Given the description of an element on the screen output the (x, y) to click on. 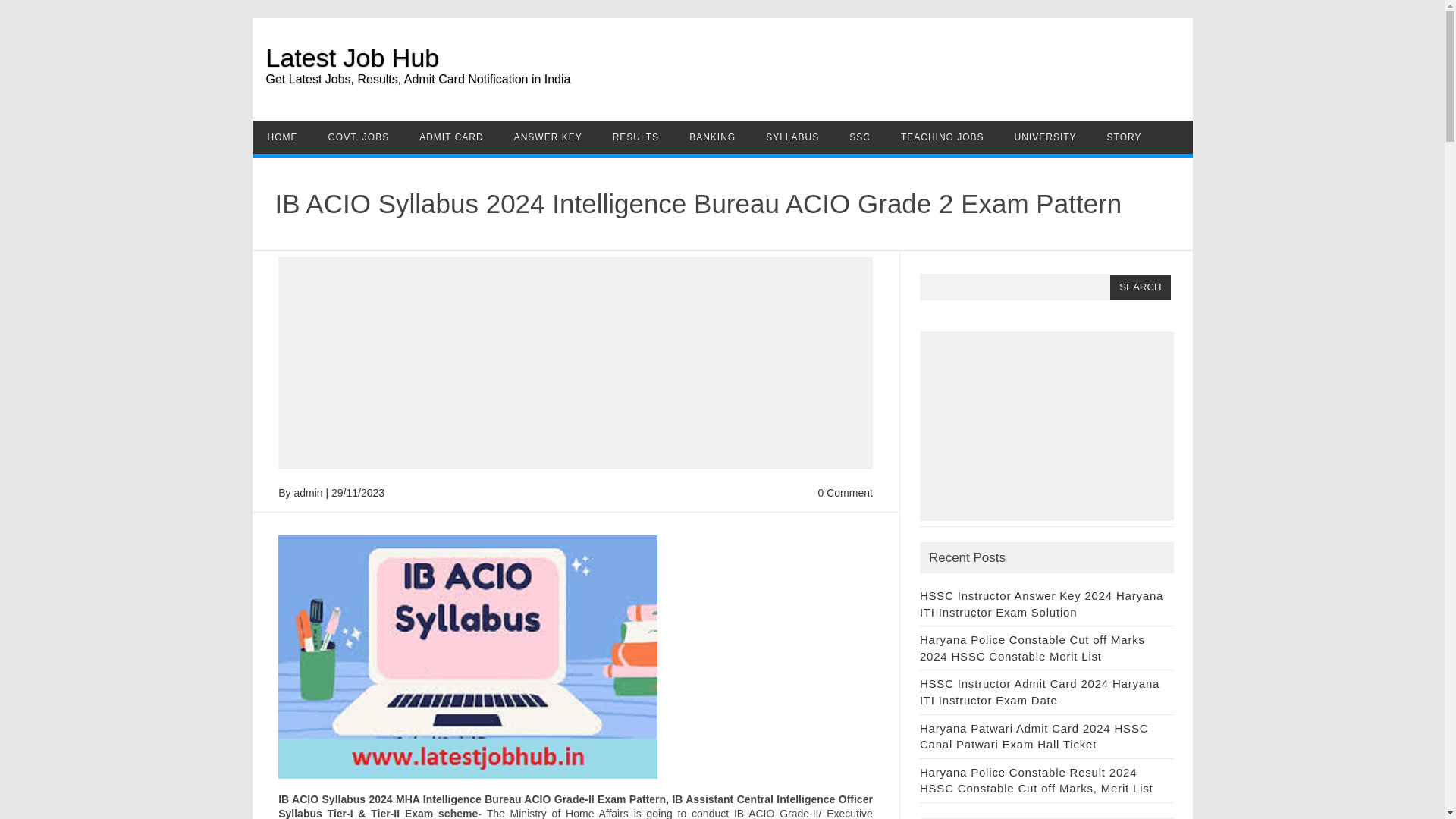
Latest Job Hub (351, 57)
Search (1139, 286)
admin (307, 492)
0 Comment (845, 492)
UNIVERSITY (1045, 136)
Advertisement (1046, 425)
Get Latest Jobs, Results, Admit Card Notification in India (728, 88)
Latest Job Hub (351, 57)
SYLLABUS (792, 136)
ANSWER KEY (547, 136)
TEACHING JOBS (941, 136)
Posts by admin (307, 492)
SSC (859, 136)
STORY (1124, 136)
